Given the description of an element on the screen output the (x, y) to click on. 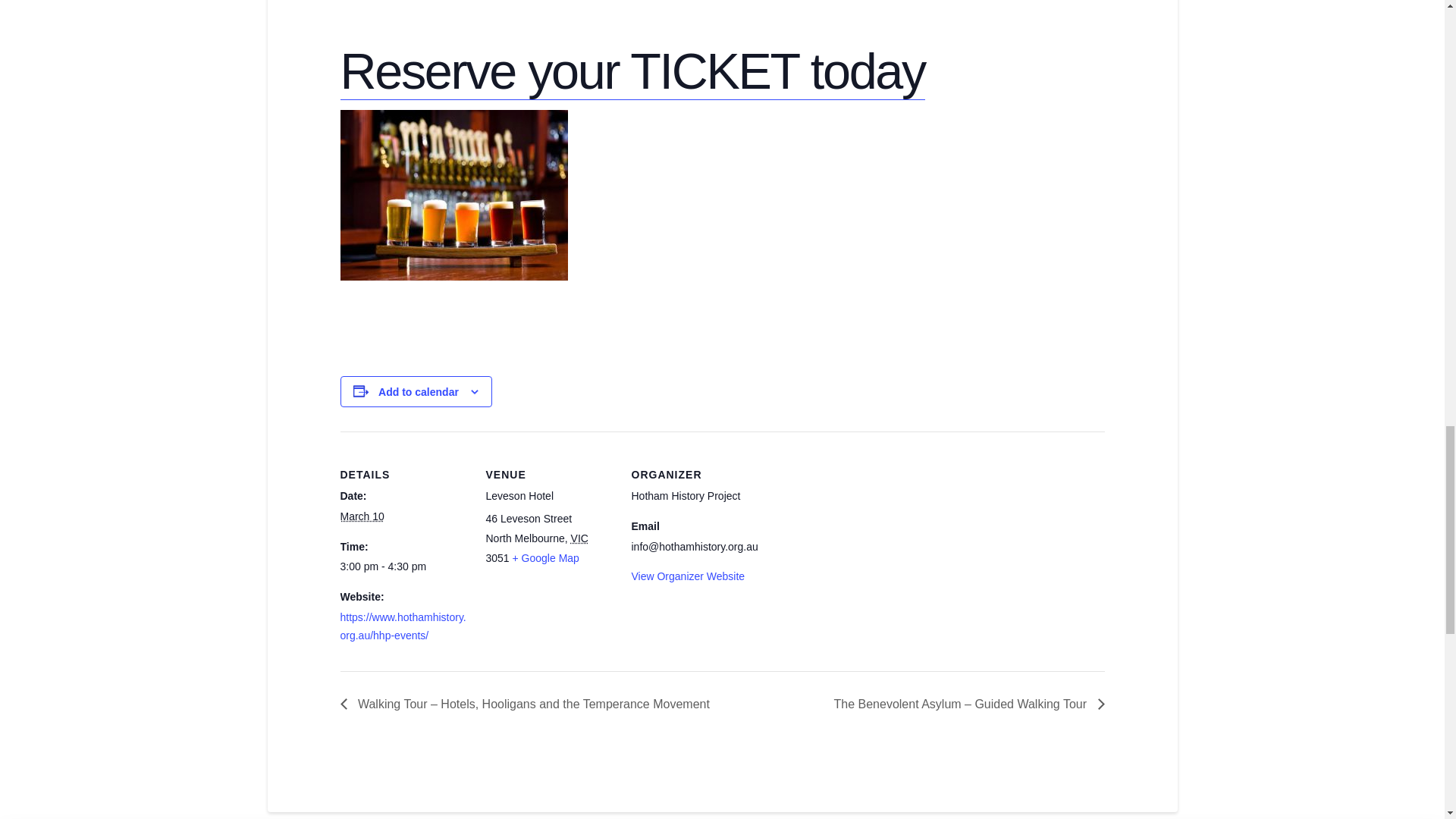
Click to view a Google Map (545, 558)
2024-03-10 (361, 516)
2024-03-10 (403, 566)
Reserve your TICKET today (631, 71)
View Organizer Website (687, 576)
VIC (579, 538)
Add to calendar (418, 391)
